Given the description of an element on the screen output the (x, y) to click on. 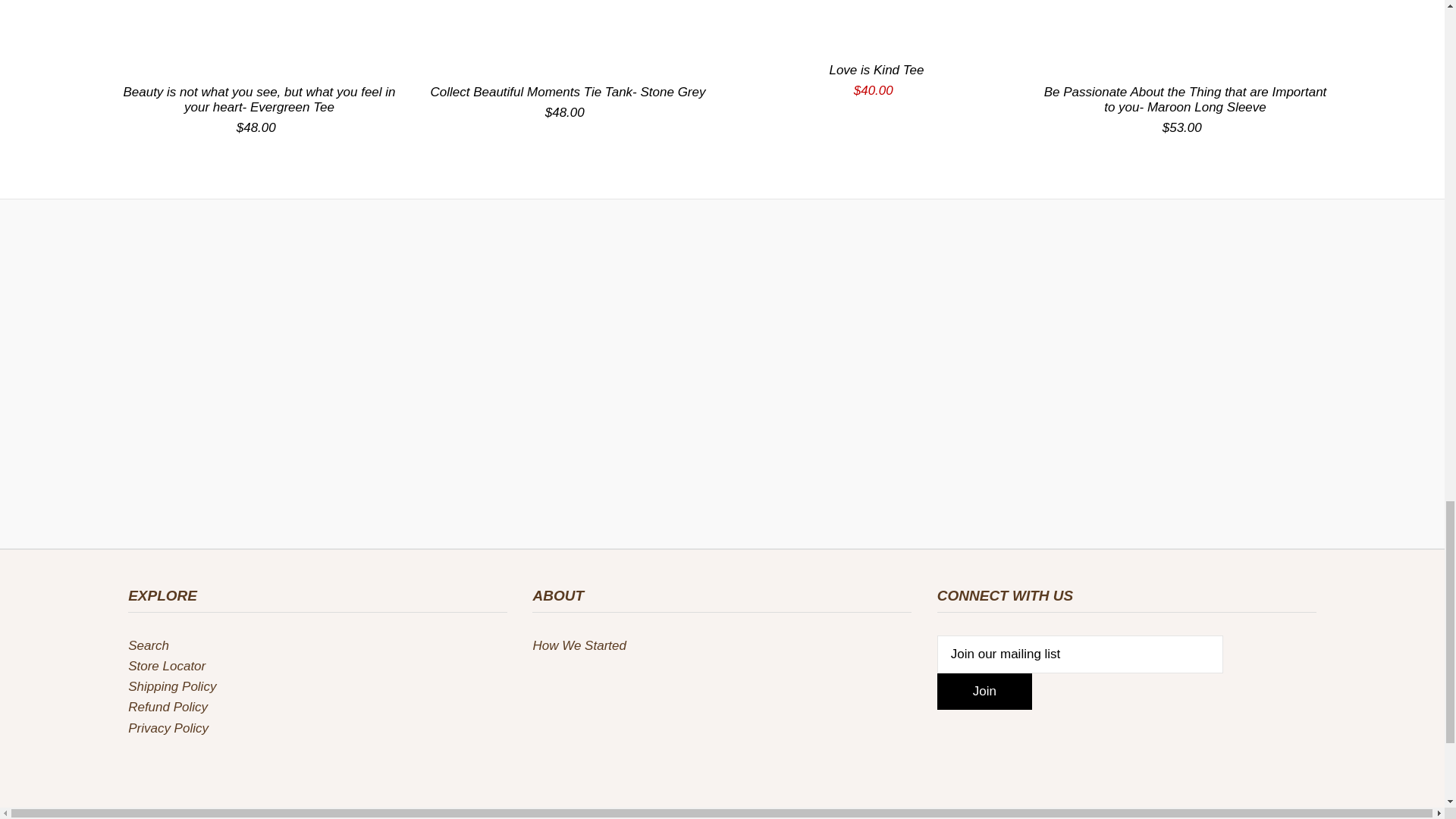
Join (984, 691)
Collect Beautiful Moments Tie Tank- Stone Grey (567, 36)
Love is Kind Tee (876, 25)
